Given the description of an element on the screen output the (x, y) to click on. 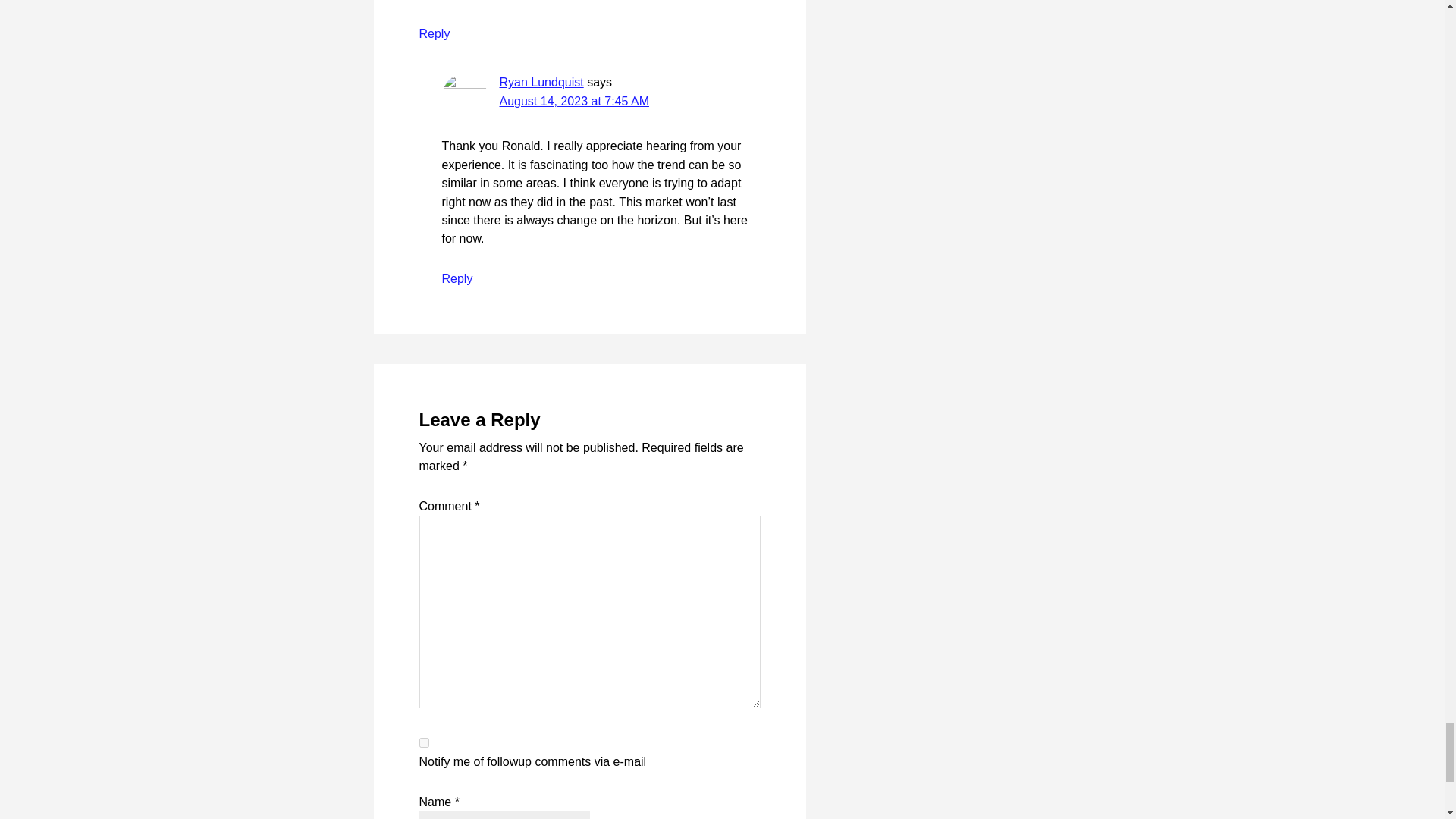
subscribe (423, 742)
